Given the description of an element on the screen output the (x, y) to click on. 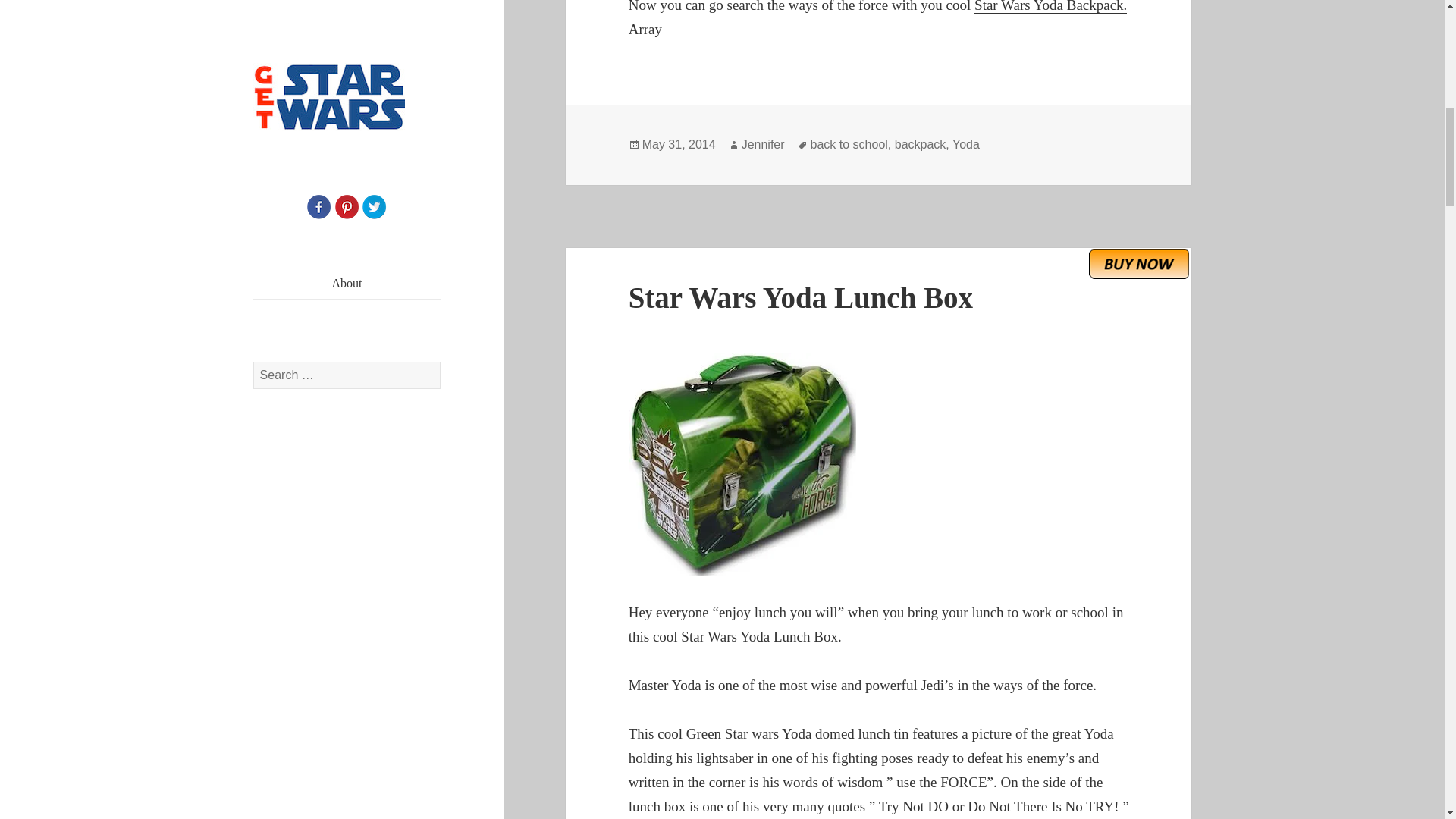
Jennifer (762, 144)
Star Wars backpack that is shaped like master Yoda (1050, 6)
Star Wars Yoda Lunch Box (800, 297)
buy Star Wars Yoda Lunch Box (1139, 264)
Star Wars lunch box in green with Yoda on it (878, 464)
backpack (920, 144)
Yoda (965, 144)
back to school (849, 144)
May 31, 2014 (679, 144)
Star Wars Yoda Backpack. (1050, 6)
